Given the description of an element on the screen output the (x, y) to click on. 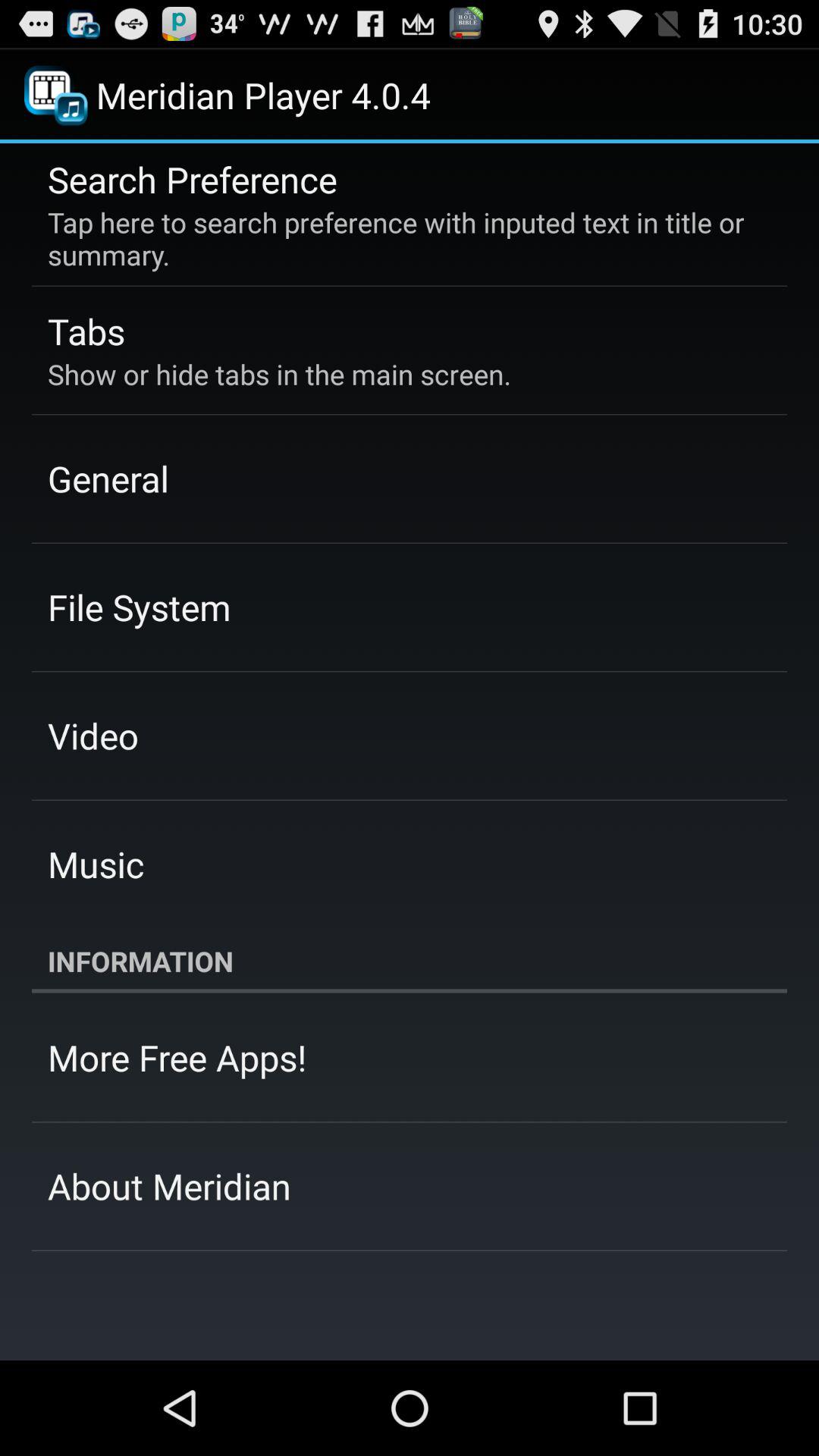
open the information item (409, 961)
